Given the description of an element on the screen output the (x, y) to click on. 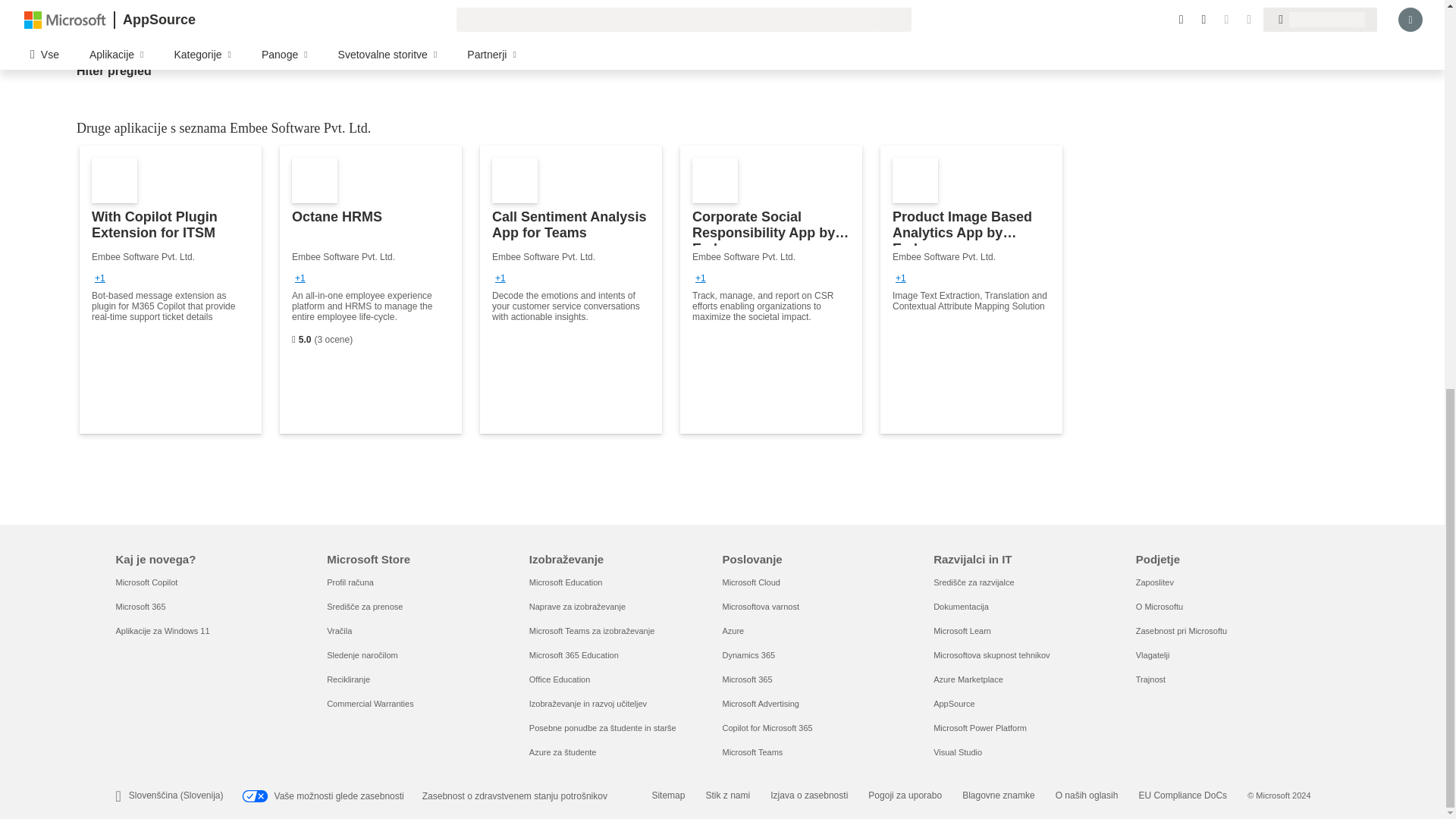
Commercial Warranties (369, 703)
Aplikacije za Windows 11 (162, 630)
Recikliranje (347, 678)
Microsoft Copilot (146, 582)
Office Education (560, 678)
Microsoft 365 Education (573, 655)
Microsoft 365 (140, 605)
Microsoft Education (565, 582)
